Given the description of an element on the screen output the (x, y) to click on. 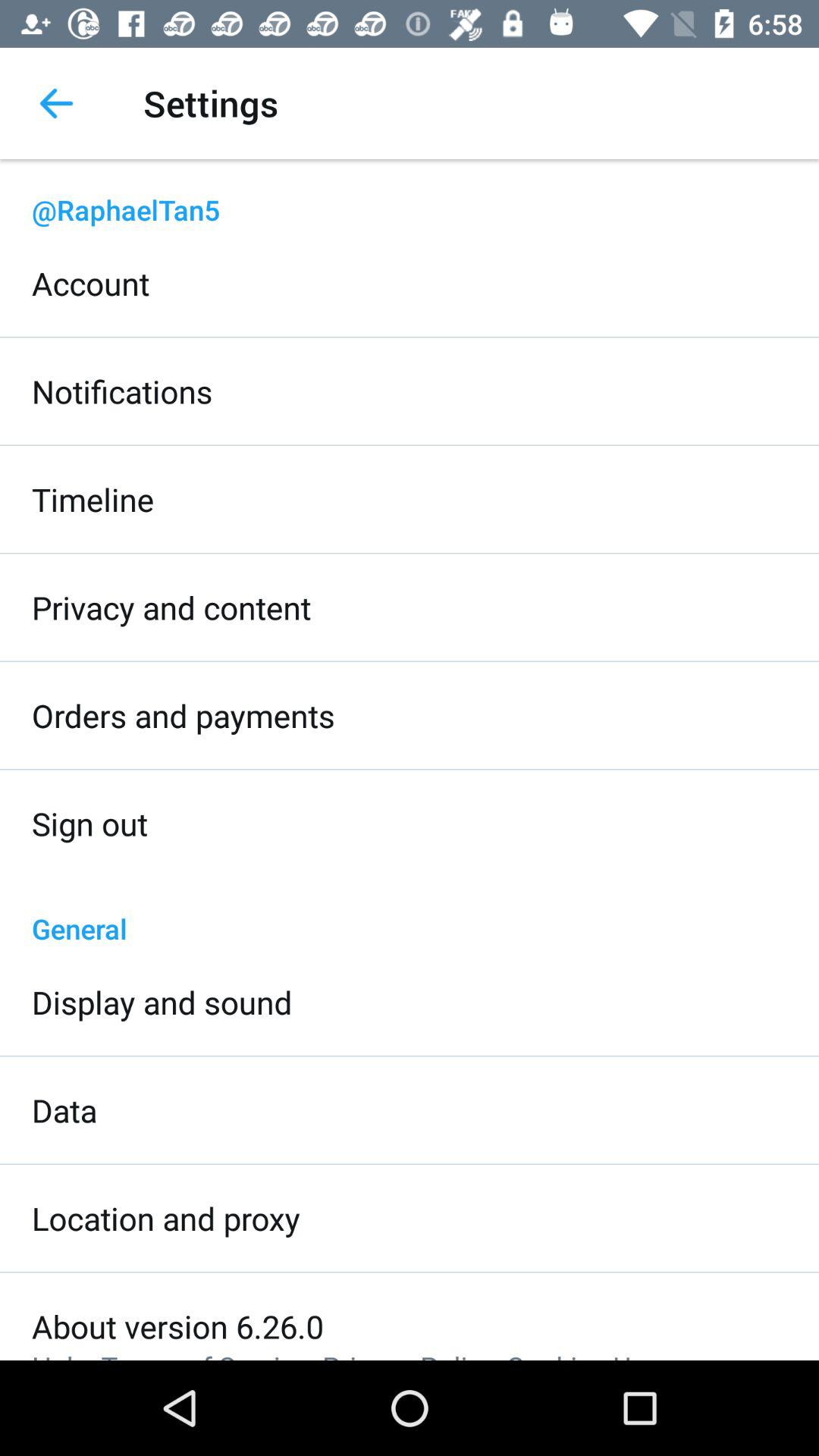
press icon below timeline icon (171, 607)
